Given the description of an element on the screen output the (x, y) to click on. 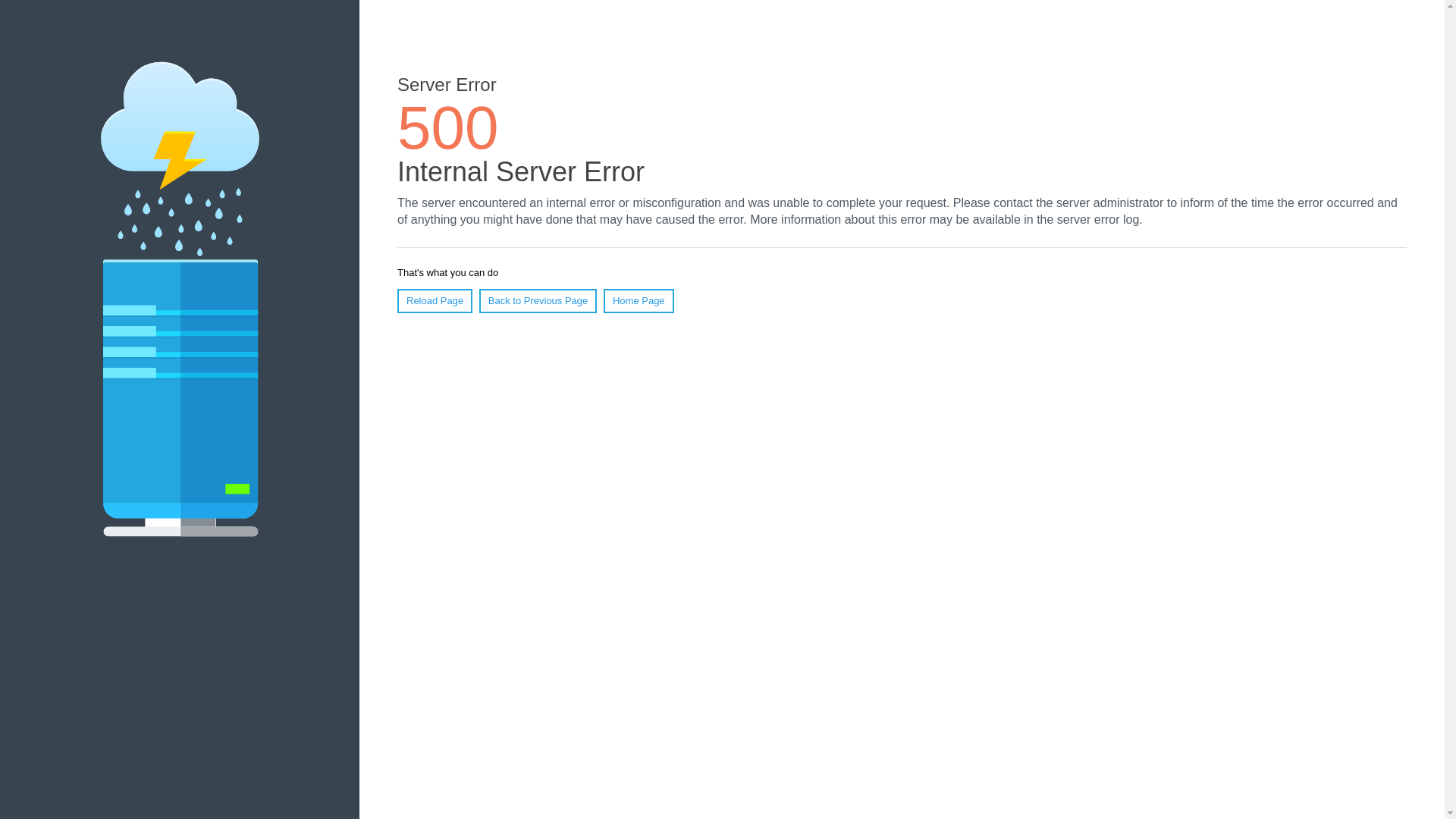
Home Page (639, 300)
Reload Page (434, 300)
Back to Previous Page (537, 300)
